Given the description of an element on the screen output the (x, y) to click on. 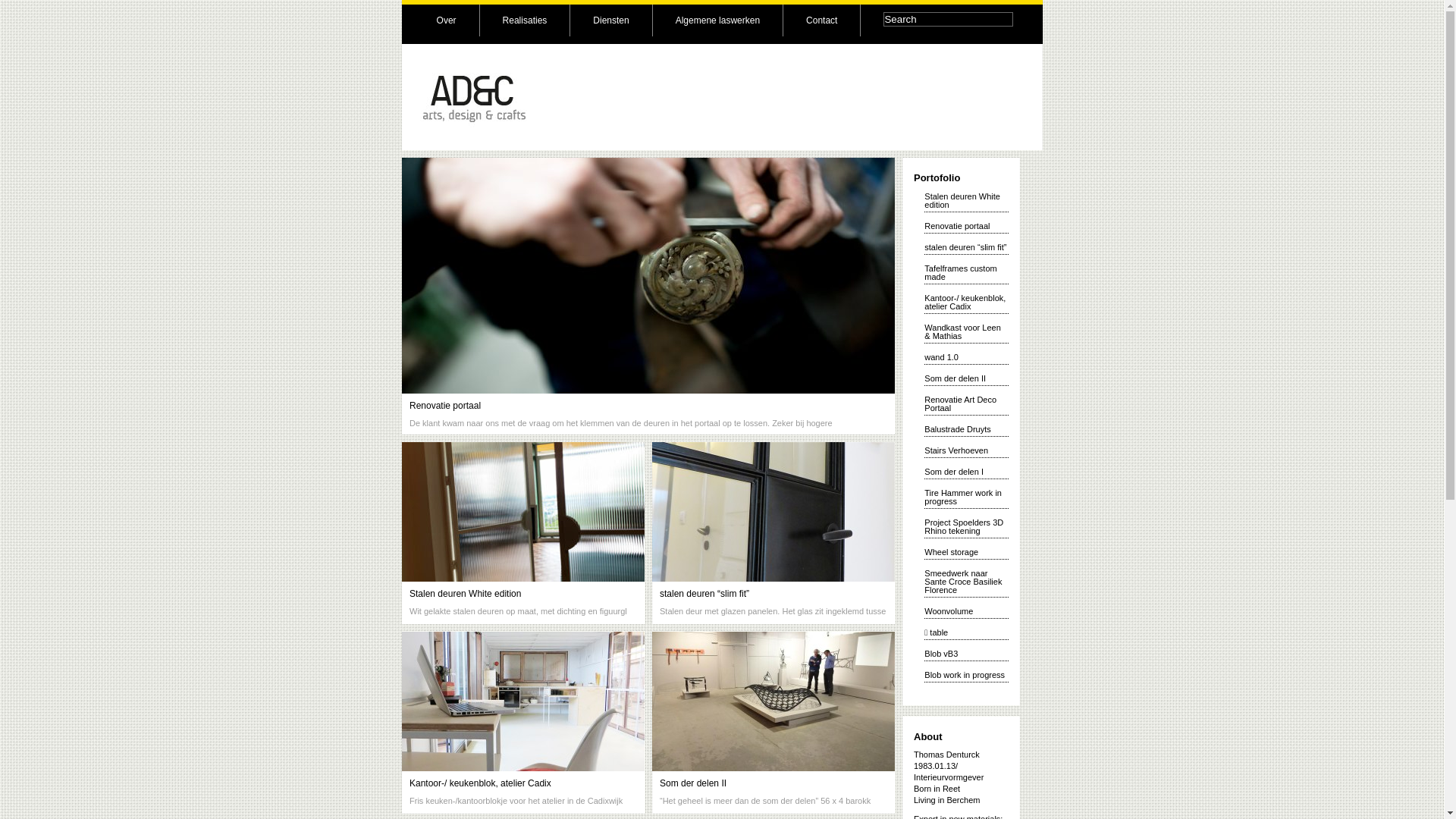
Over Element type: text (446, 20)
Stalen deuren White edition Element type: text (464, 593)
Search Element type: text (948, 19)
Renovatie portaal Element type: text (444, 405)
Blob work in progress Element type: text (964, 674)
Algemene laswerken Element type: text (717, 20)
Wandkast voor Leen & Mathias Element type: text (962, 331)
Blob vB3 Element type: text (940, 653)
Smeedwerk naar Sante Croce Basiliek Florence Element type: text (962, 581)
Balustrade Druyts Element type: text (957, 428)
Som der delen II Element type: text (954, 377)
Contact Element type: text (821, 20)
Som der delen II Element type: text (692, 783)
Stalen deuren White edition Element type: text (962, 200)
Stairs Verhoeven Element type: text (956, 450)
Project Spoelders 3D Rhino tekening Element type: text (963, 526)
Renovatie portaal Element type: text (956, 225)
Woonvolume Element type: text (948, 610)
Tire Hammer work in progress Element type: text (962, 496)
Kantoor-/ keukenblok, atelier Cadix Element type: text (964, 301)
Kantoor-/ keukenblok, atelier Cadix Element type: text (480, 783)
Realisaties Element type: text (524, 20)
Som der delen I Element type: text (953, 471)
Diensten Element type: text (610, 20)
Renovatie Art Deco Portaal Element type: text (960, 403)
Tafelframes custom made Element type: text (960, 272)
wand 1.0 Element type: text (941, 356)
Wheel storage Element type: text (951, 551)
